Given the description of an element on the screen output the (x, y) to click on. 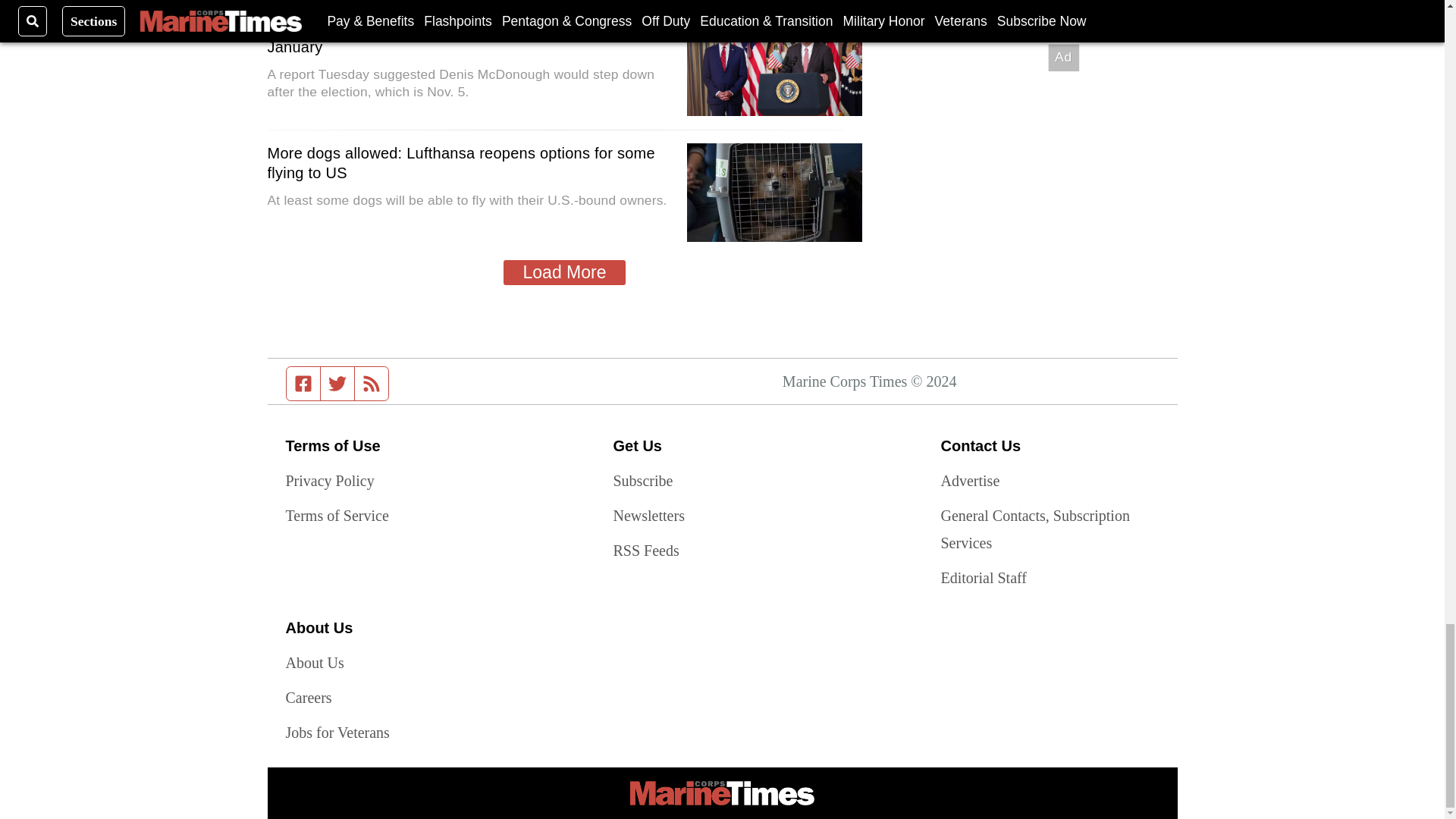
Facebook page (303, 383)
RSS feed (371, 383)
Twitter feed (336, 383)
